Given the description of an element on the screen output the (x, y) to click on. 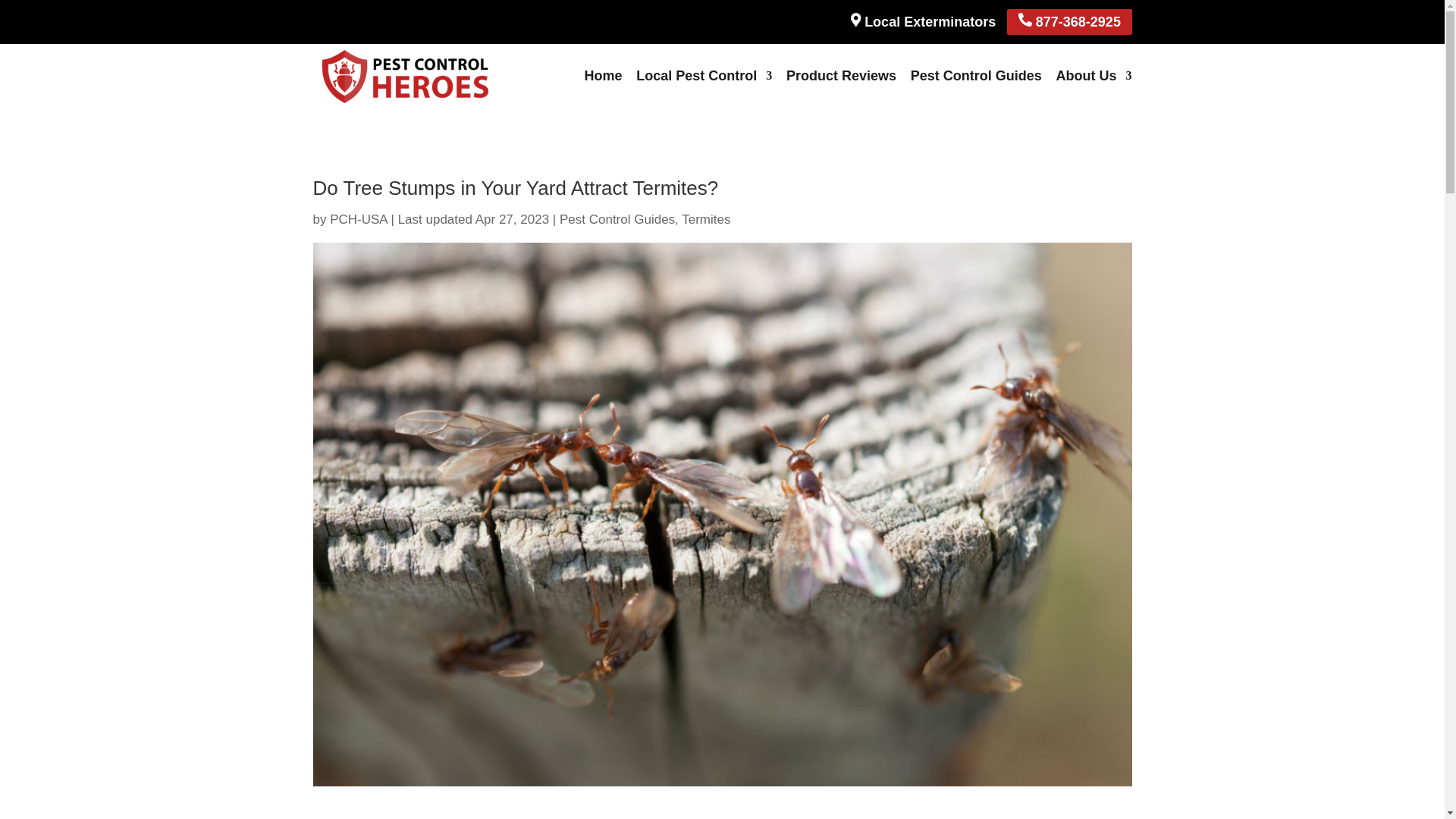
Product Reviews (841, 75)
PCH-USA (358, 219)
Termites (705, 219)
Local Pest Control (703, 75)
Pest Control Guides (976, 75)
877-368-2925 (1069, 22)
Home (602, 75)
Posts by PCH-USA (358, 219)
Local Exterminators (922, 21)
